Given the description of an element on the screen output the (x, y) to click on. 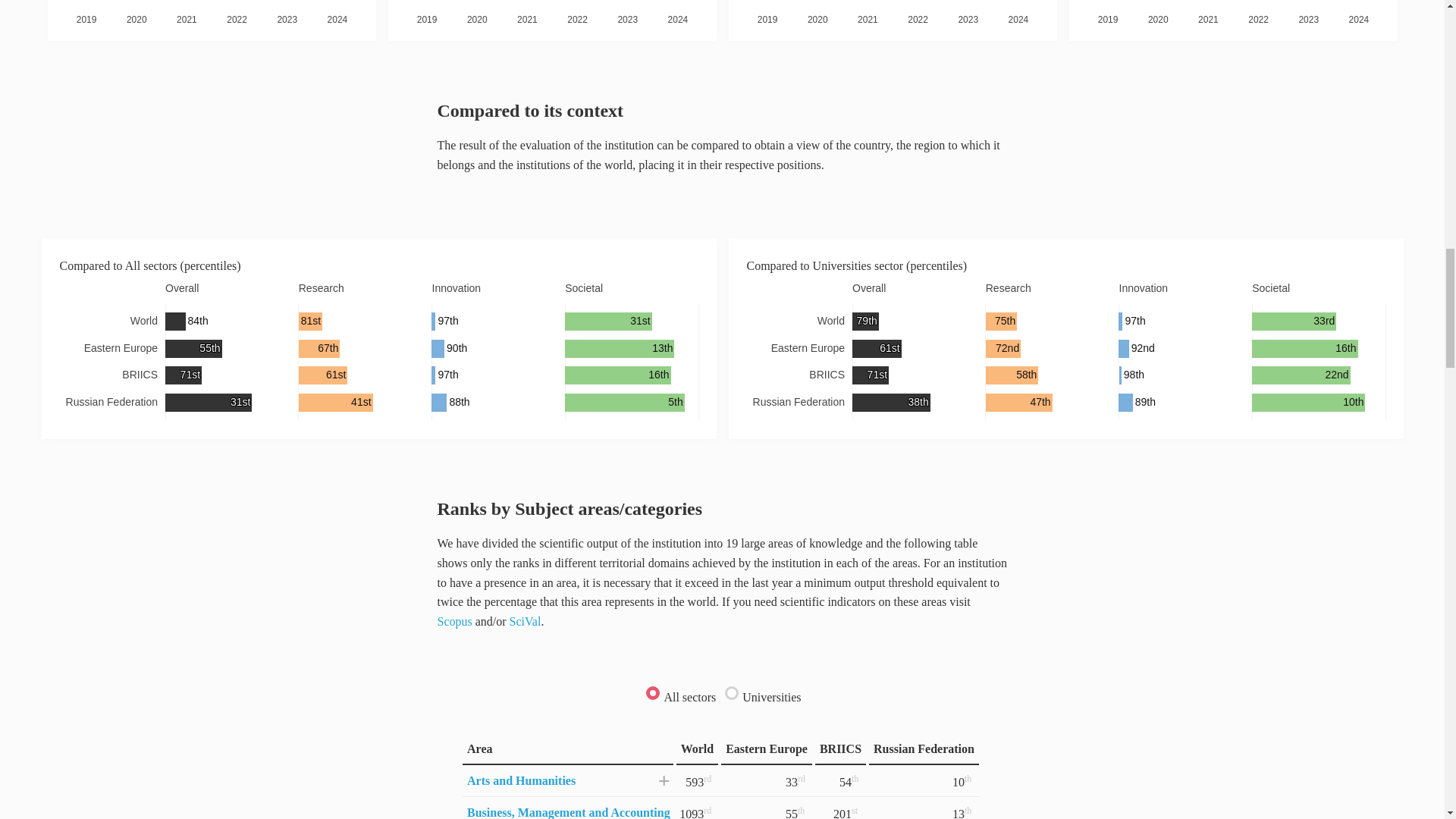
Scopus (453, 621)
Ranking - Arts and Humanities  (521, 780)
all (651, 692)
Business, Management and Accounting (568, 812)
Ranking - Business, Management and Accounting  (568, 812)
sector (730, 692)
